Given the description of an element on the screen output the (x, y) to click on. 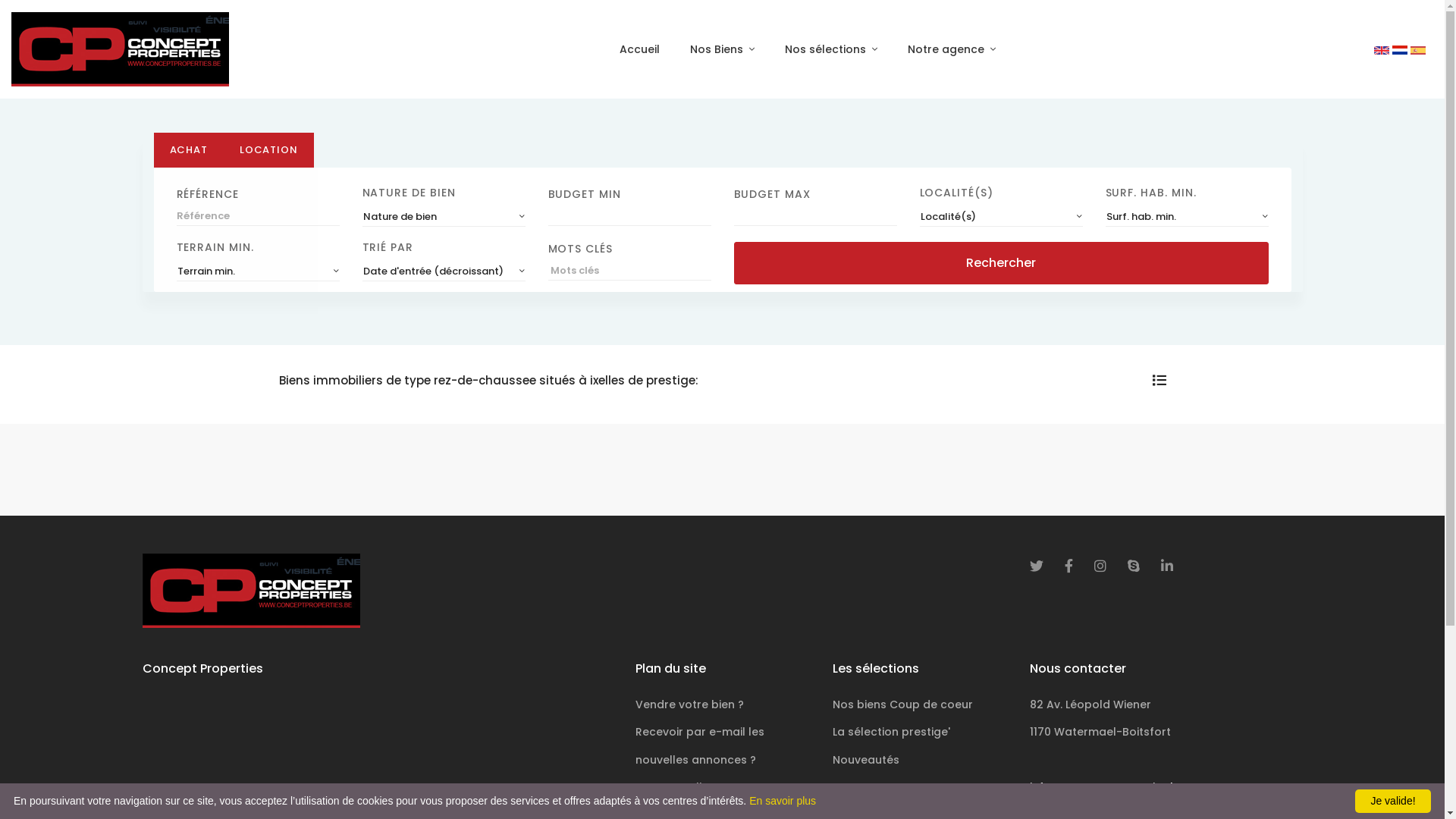
Recevoir par e-mail les nouvelles annonces ? Element type: text (699, 745)
Accueil Element type: text (639, 49)
Surf. hab. min. Element type: text (1186, 216)
Vendre votre bien ? Element type: text (689, 704)
En savoir plus Element type: text (782, 800)
LOCATION Element type: text (268, 149)
Terrain min. Element type: text (256, 271)
Contacter l'agence Element type: text (689, 786)
Nature de bien Element type: text (443, 216)
Rechercher Element type: text (1001, 262)
Notre agence Element type: text (951, 49)
ACHAT Element type: text (187, 149)
Nos biens Coup de coeur Element type: text (902, 704)
Nos Biens Element type: text (722, 49)
info@conceptproperties.be Element type: text (1165, 786)
